Given the description of an element on the screen output the (x, y) to click on. 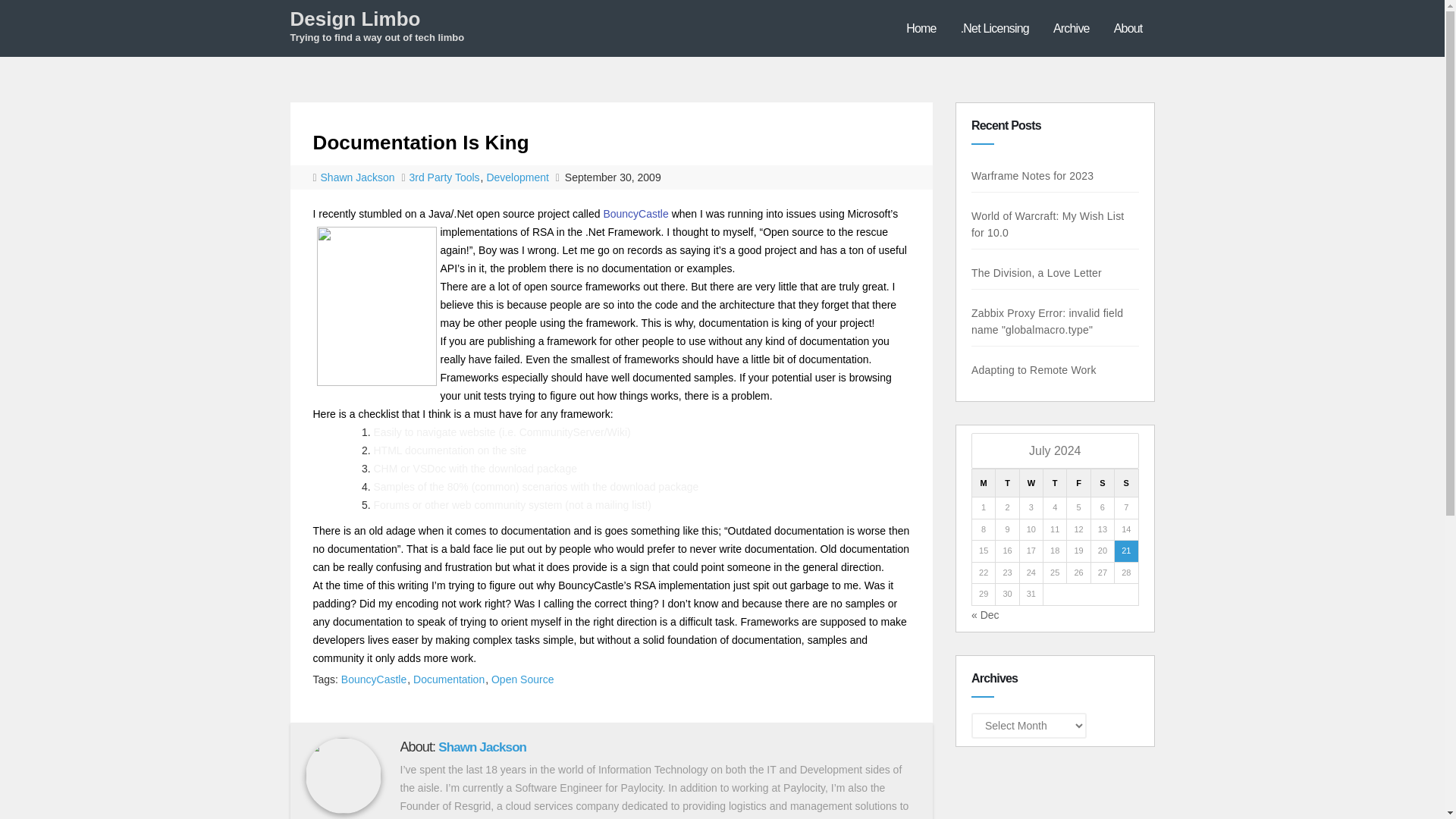
BouncyCastle (373, 679)
Home (920, 28)
Documentation Is King (420, 142)
Zabbix Proxy Error: invalid field name "globalmacro.type" (1036, 321)
The Division, a Love Letter (1043, 272)
.Net Licensing (995, 28)
Development (518, 177)
BouncyCastle (635, 214)
Archive (1071, 28)
Open Source (523, 679)
Documentation (448, 679)
Archive (1071, 28)
About (1128, 28)
Shawn Jackson (359, 177)
Shawn Jackson (481, 747)
